Given the description of an element on the screen output the (x, y) to click on. 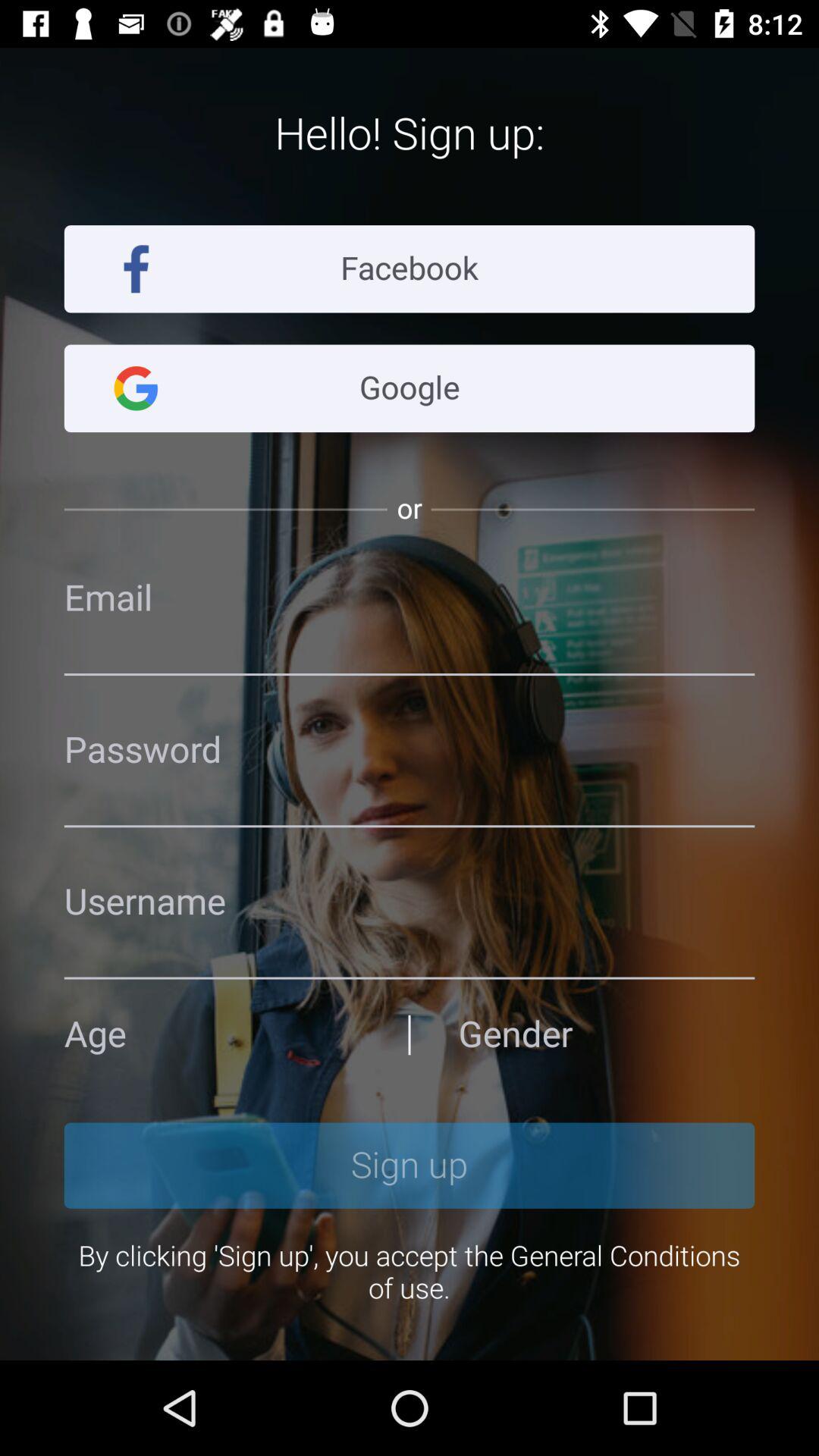
text box (409, 902)
